Given the description of an element on the screen output the (x, y) to click on. 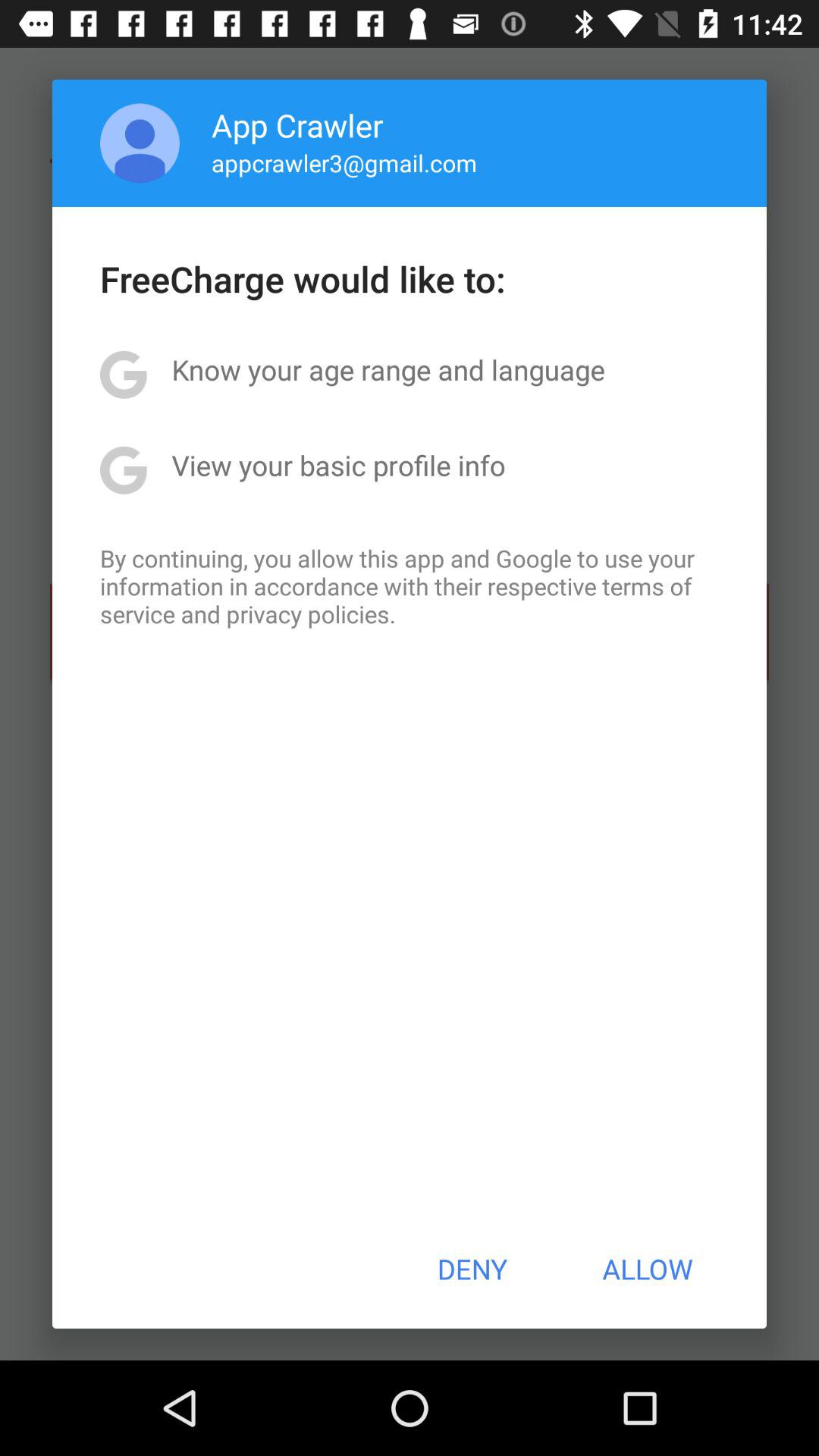
choose app below by continuing you app (471, 1268)
